Given the description of an element on the screen output the (x, y) to click on. 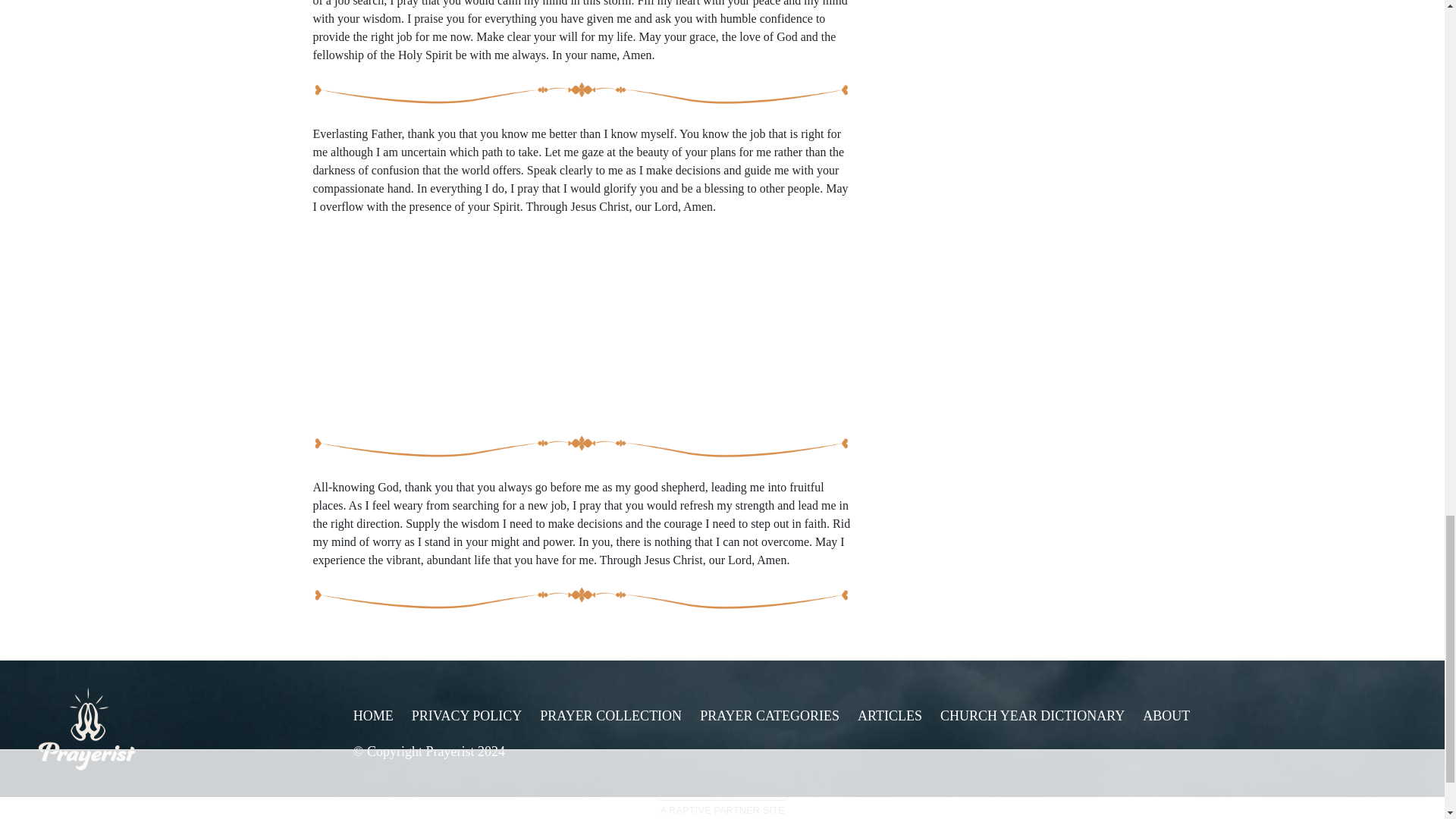
PRIVACY POLICY (467, 715)
HOME (373, 715)
PRAYER CATEGORIES (770, 715)
CHURCH YEAR DICTIONARY (1032, 715)
PRAYER COLLECTION (610, 715)
ABOUT (1165, 715)
ARTICLES (889, 715)
